Given the description of an element on the screen output the (x, y) to click on. 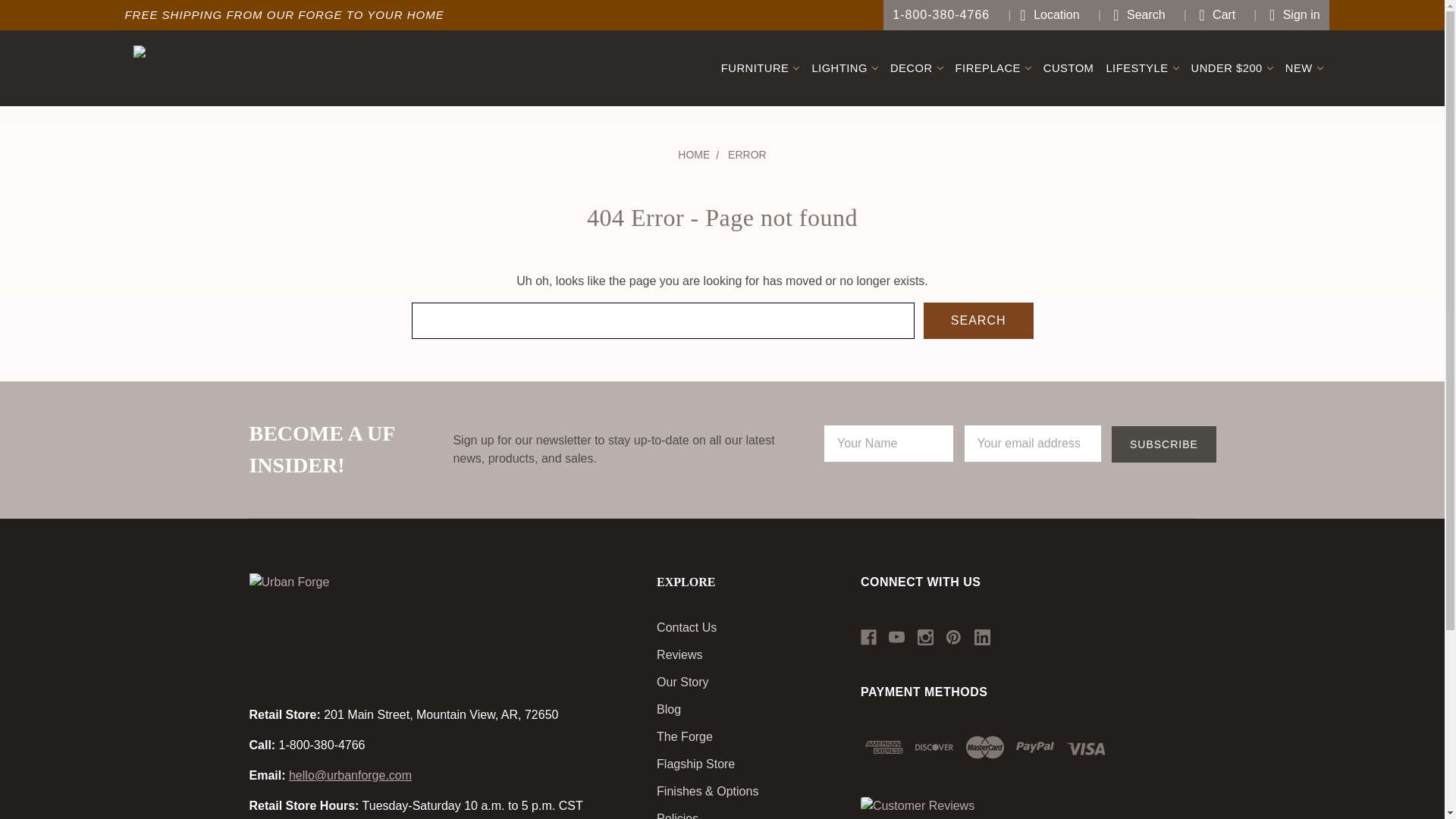
Search (1131, 15)
Urban Forge (256, 67)
FURNITURE (760, 68)
Urban Forge (299, 624)
Location (1042, 15)
1-800-380-4766 (940, 15)
Sign in (1285, 15)
Search (978, 320)
Subscribe (1163, 443)
Cart (1209, 15)
LIGHTING (844, 68)
